Given the description of an element on the screen output the (x, y) to click on. 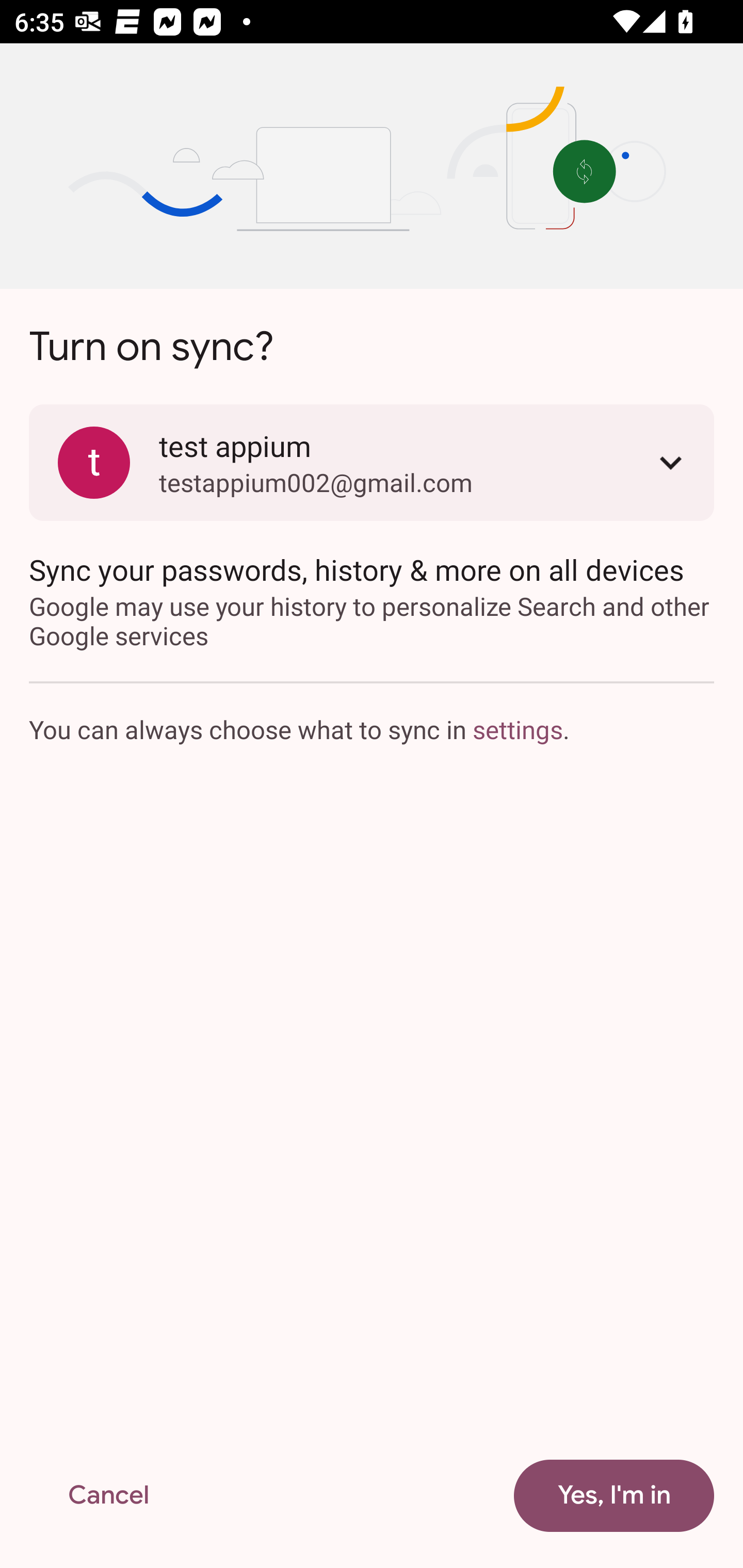
test appium testappium002@gmail.com (371, 462)
Cancel (107, 1495)
Yes, I'm in (614, 1495)
